Given the description of an element on the screen output the (x, y) to click on. 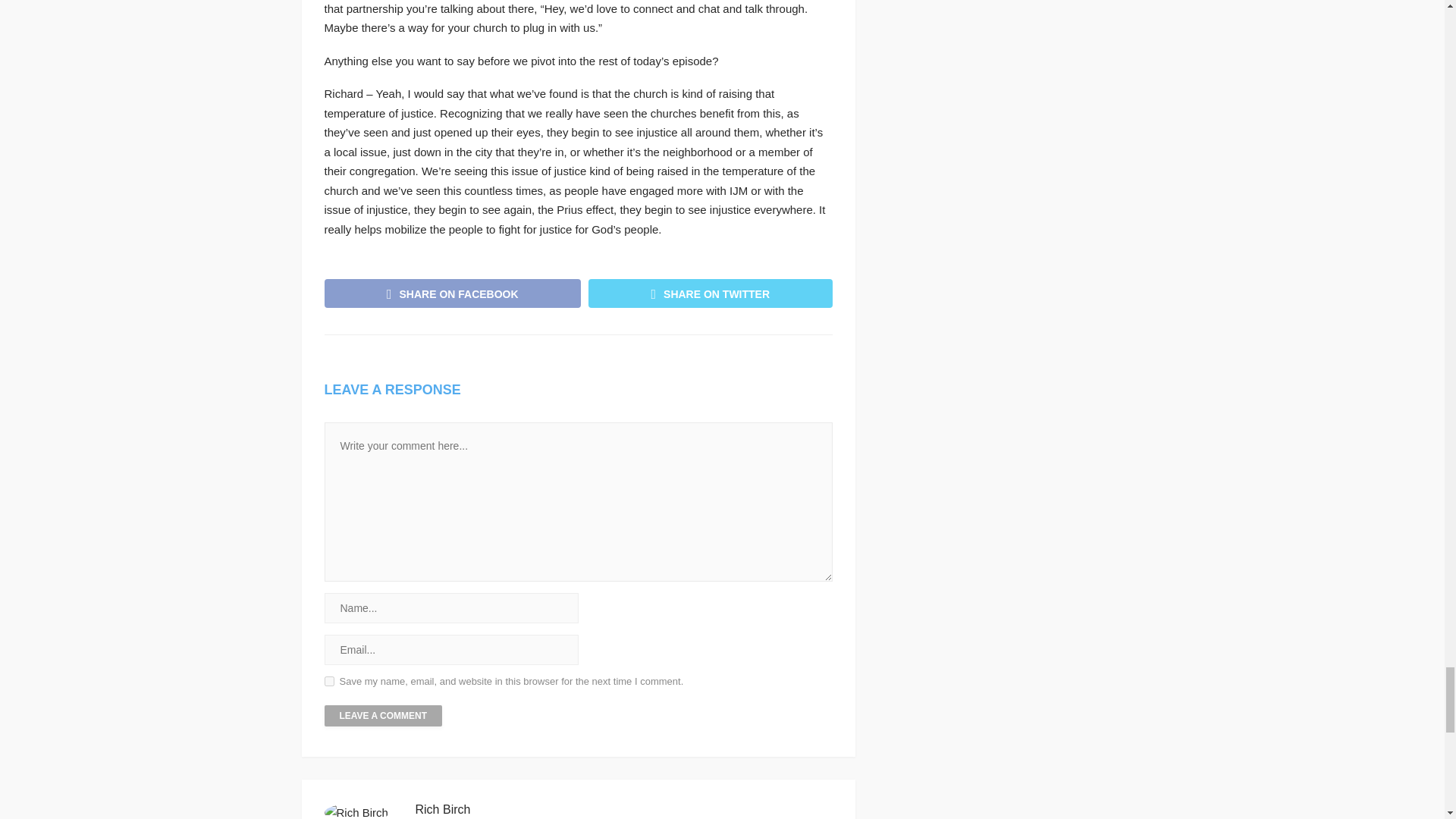
yes (329, 681)
Leave a comment (383, 715)
